Given the description of an element on the screen output the (x, y) to click on. 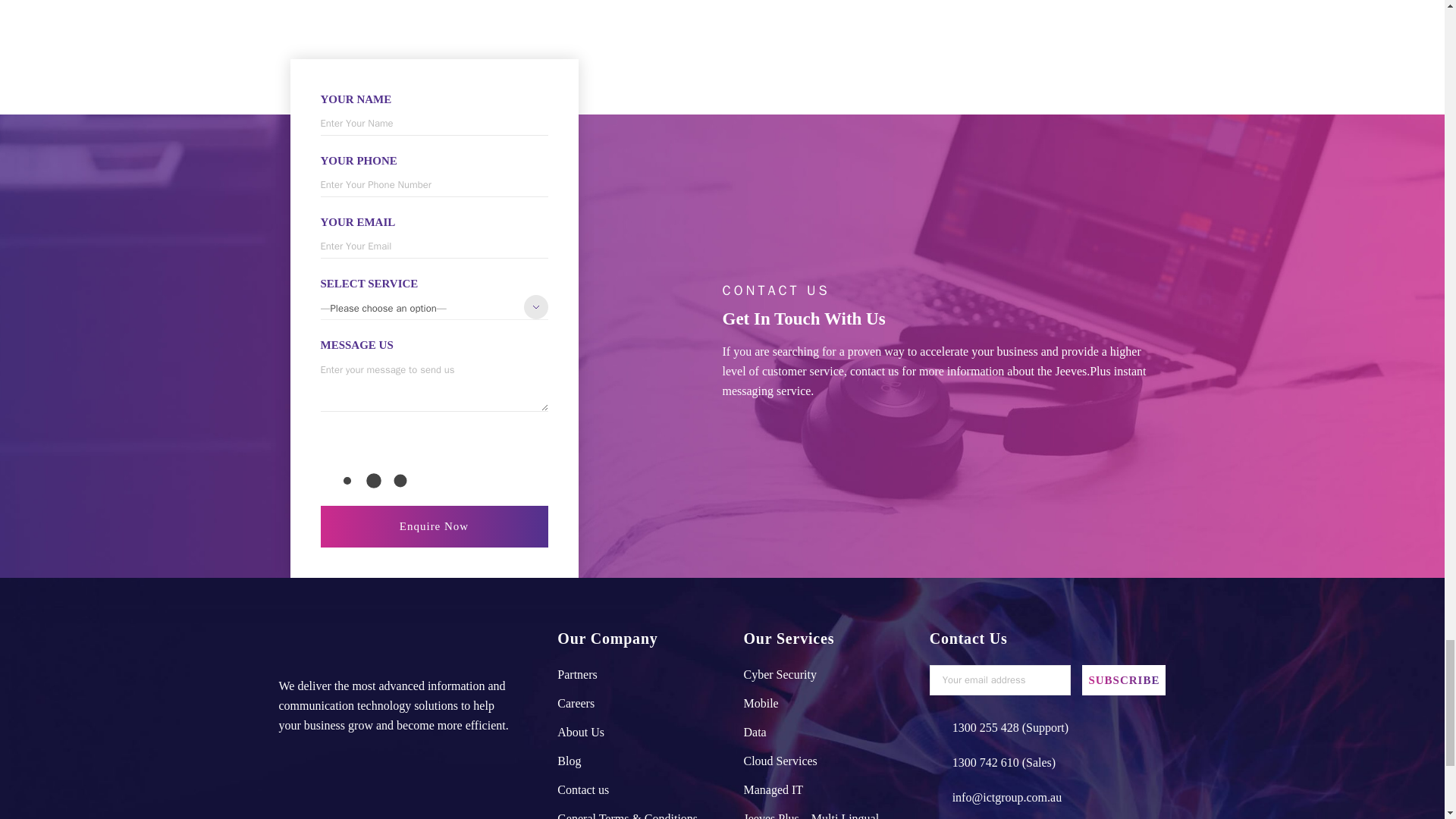
Subscribe (1123, 680)
Enquire Now (433, 526)
